Given the description of an element on the screen output the (x, y) to click on. 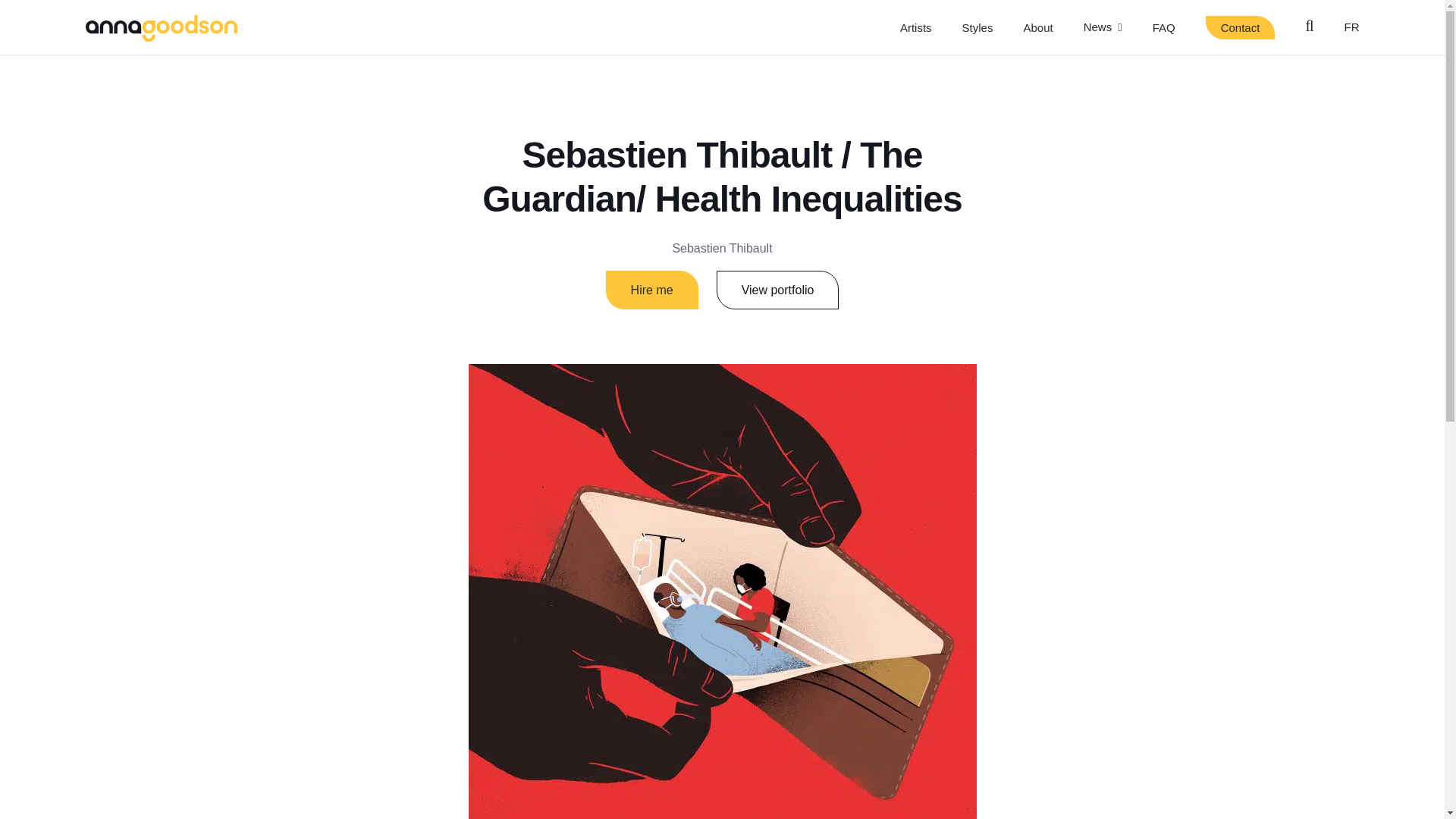
About (1037, 27)
Hire me (651, 290)
FR (1350, 26)
View portfolio (778, 290)
Styles (977, 27)
FAQ (1163, 27)
News (1102, 26)
Contact (1240, 26)
Artists (915, 27)
